Given the description of an element on the screen output the (x, y) to click on. 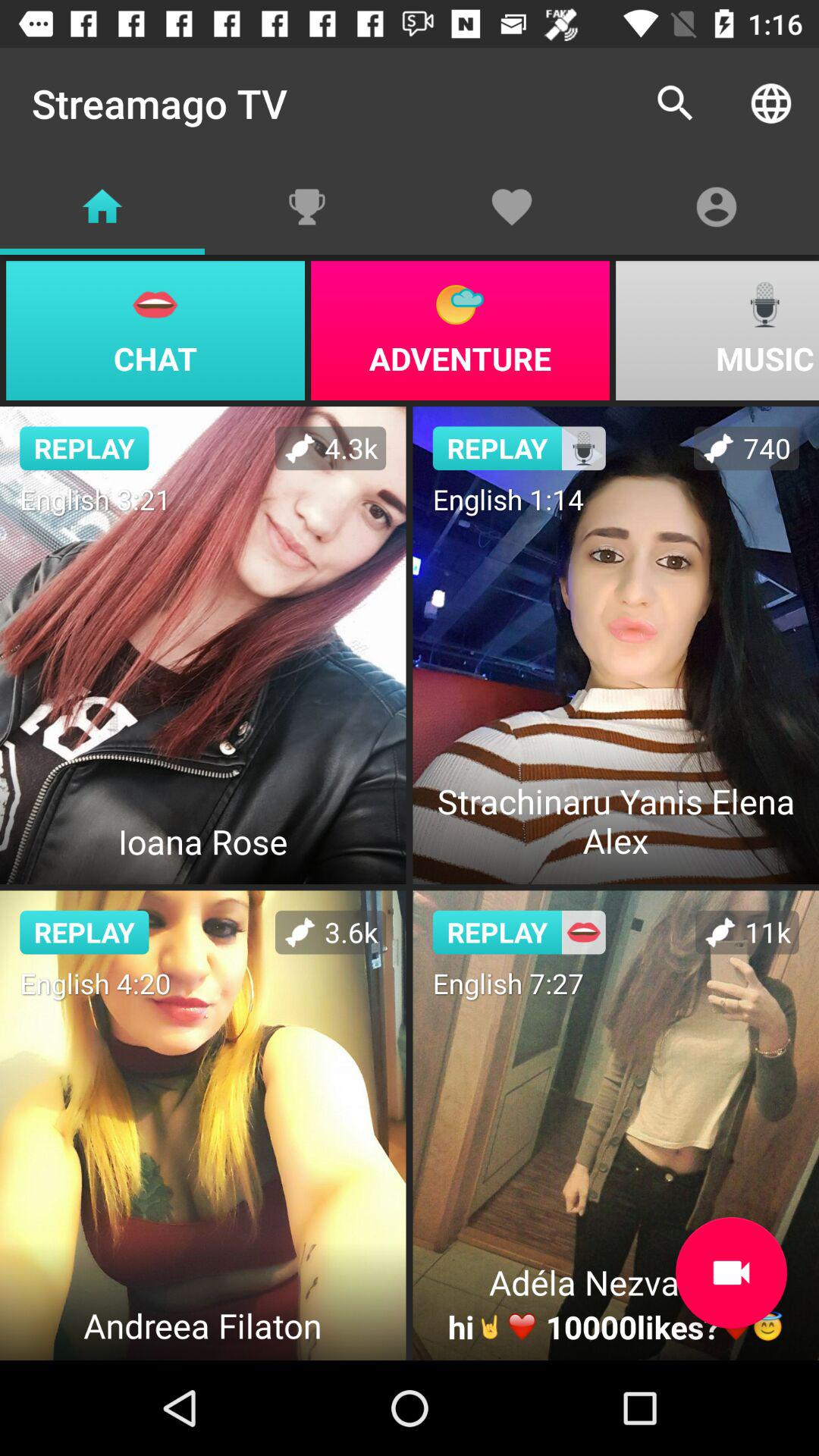
stream video (731, 1272)
